Given the description of an element on the screen output the (x, y) to click on. 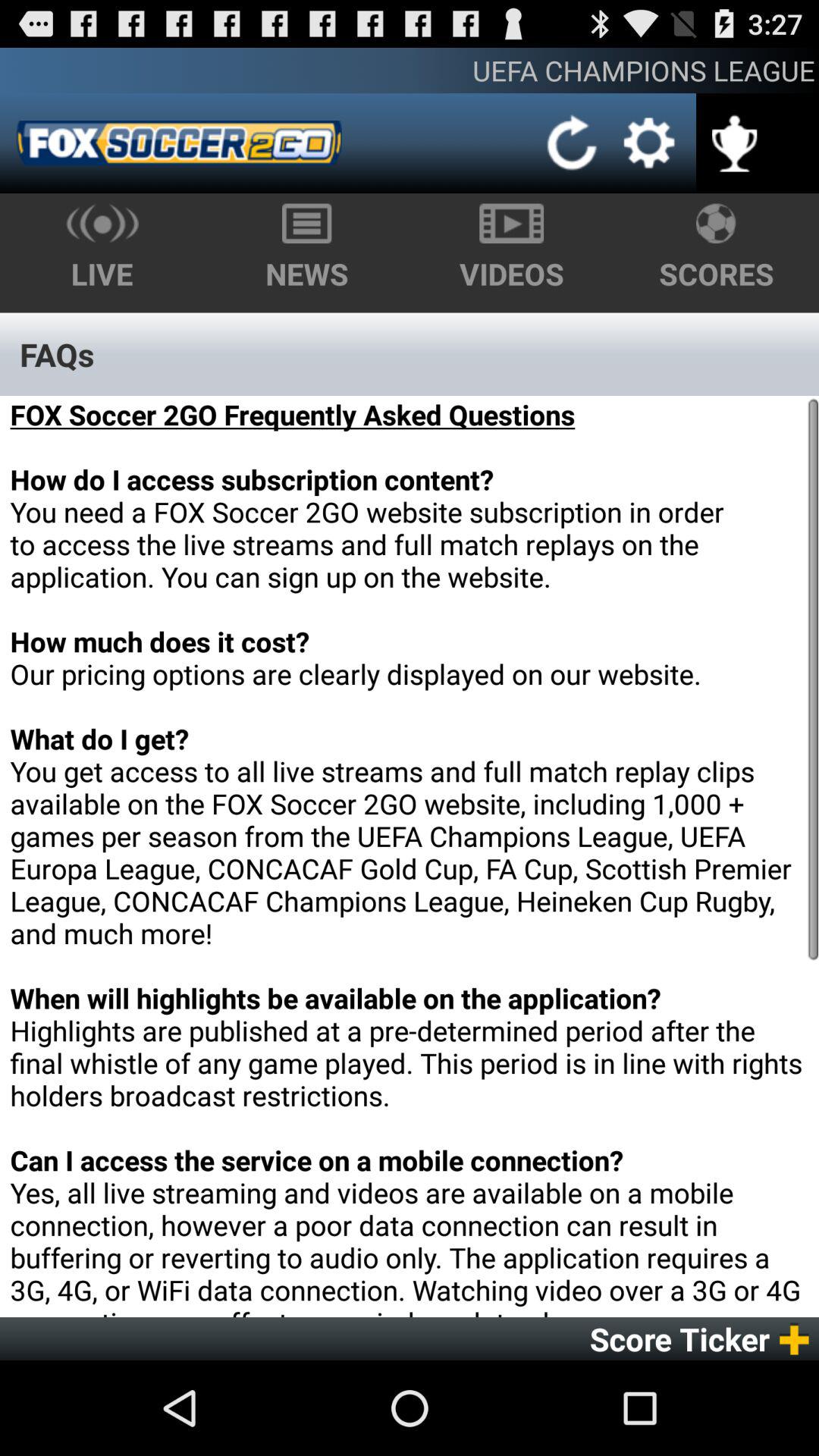
launch the item below uefa champions league icon (572, 143)
